Given the description of an element on the screen output the (x, y) to click on. 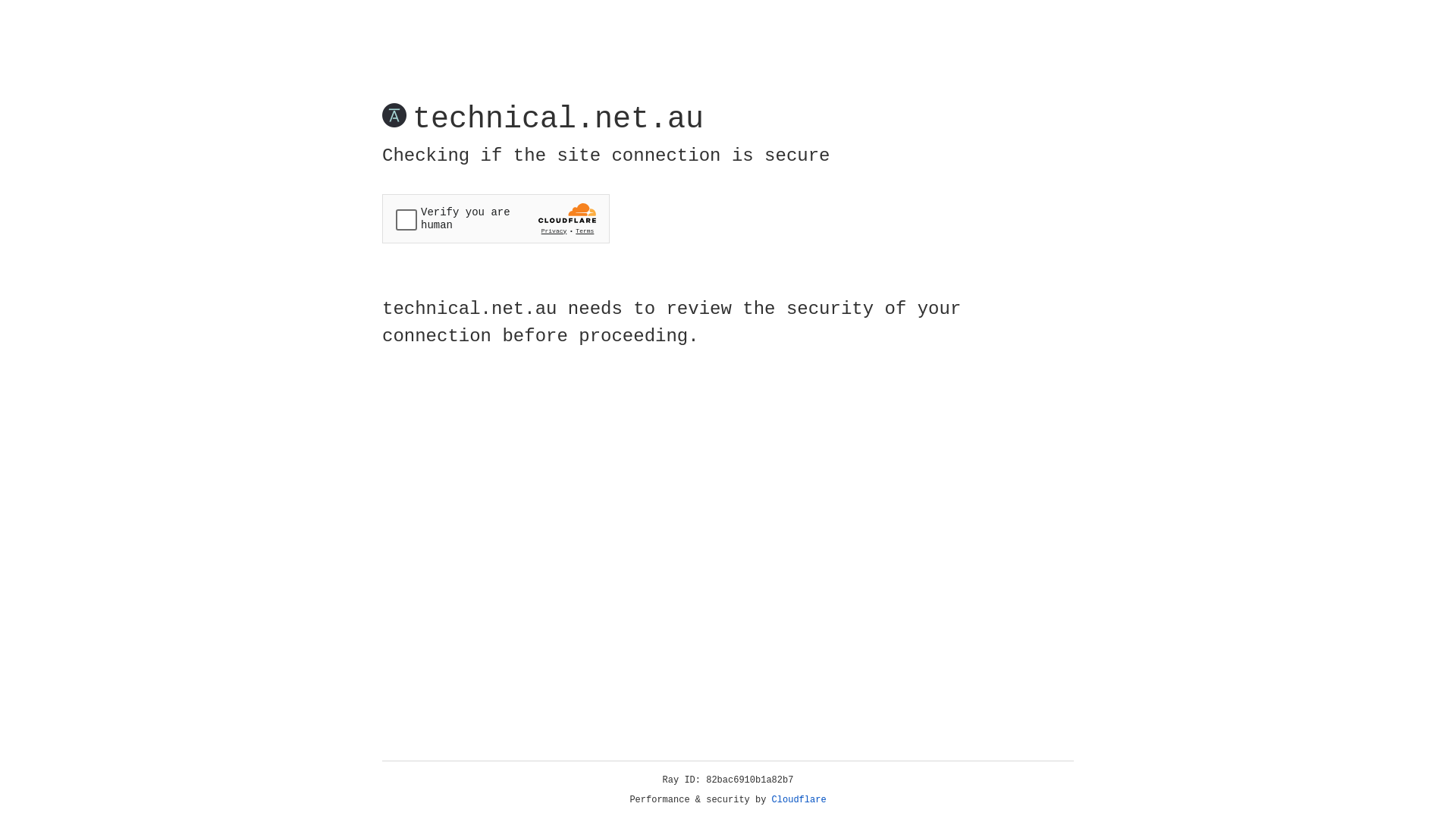
Cloudflare Element type: text (798, 799)
Widget containing a Cloudflare security challenge Element type: hover (495, 218)
